Given the description of an element on the screen output the (x, y) to click on. 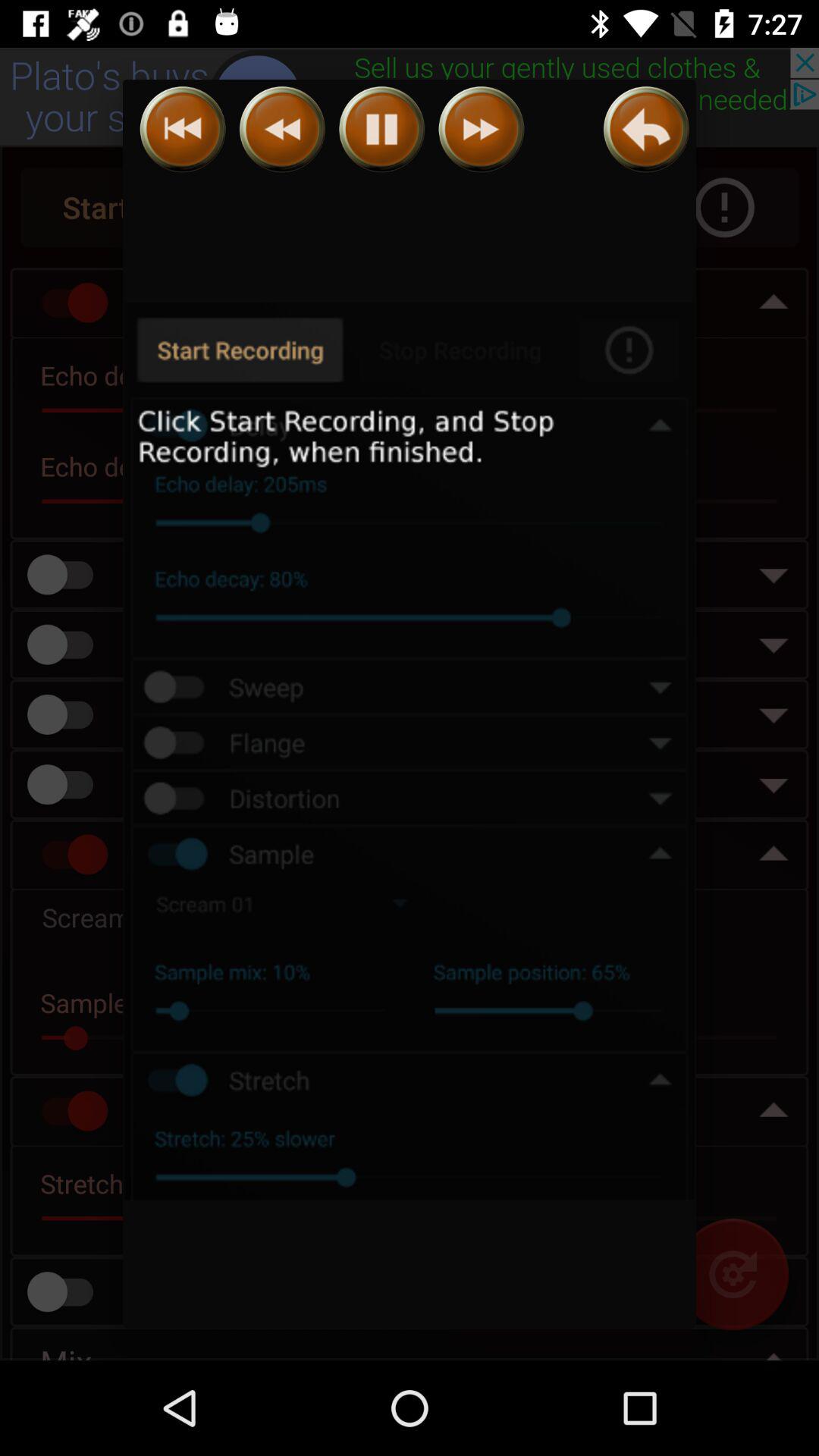
go back (282, 129)
